Given the description of an element on the screen output the (x, y) to click on. 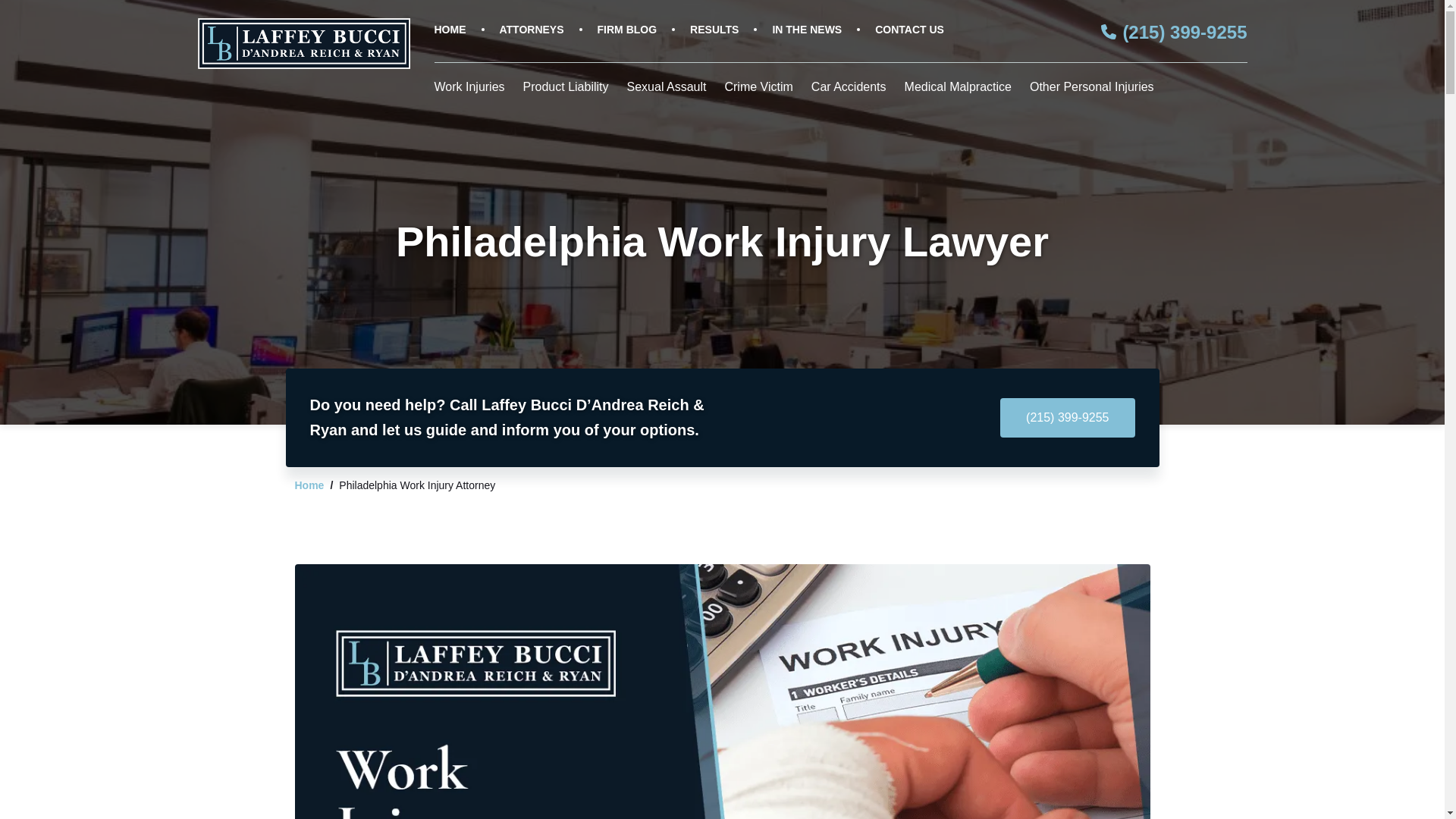
FIRM BLOG (627, 29)
CONTACT US (909, 29)
HOME (449, 29)
ATTORNEYS (531, 29)
Sexual Assault (666, 91)
Car Accidents (848, 91)
Other Personal Injuries (1091, 91)
RESULTS (714, 29)
Crime Victim (757, 91)
Medical Malpractice (957, 91)
Product Liability (565, 91)
Work Injuries (468, 91)
Home (308, 485)
IN THE NEWS (806, 29)
